Given the description of an element on the screen output the (x, y) to click on. 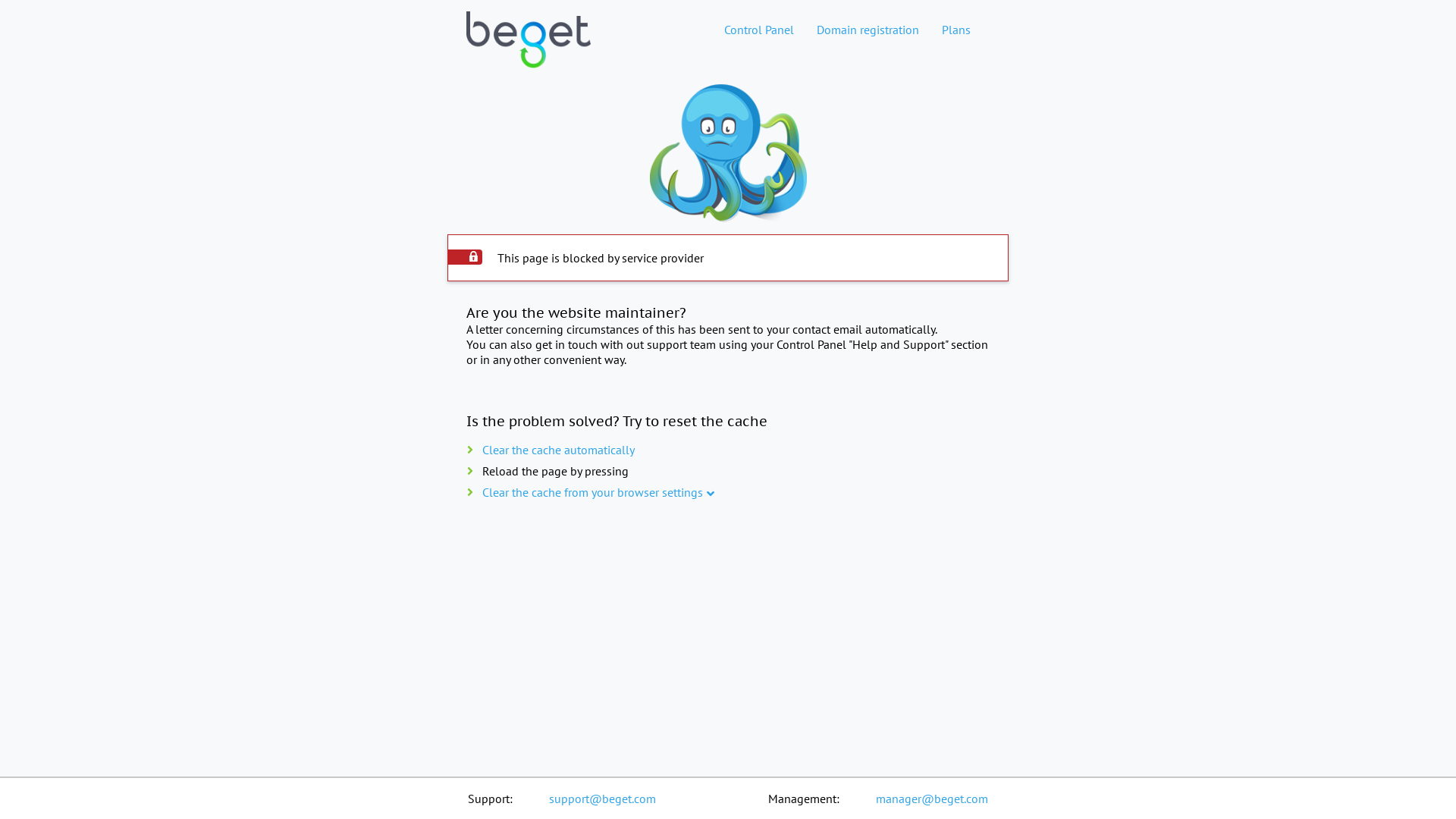
Clear the cache automatically Element type: text (558, 449)
Control Panel Element type: text (758, 29)
support@beget.com Element type: text (602, 798)
Plans Element type: text (956, 29)
Web hosting home page Element type: hover (528, 51)
Clear the cache from your browser settings Element type: text (592, 491)
manager@beget.com Element type: text (931, 798)
Domain registration Element type: text (867, 29)
